Given the description of an element on the screen output the (x, y) to click on. 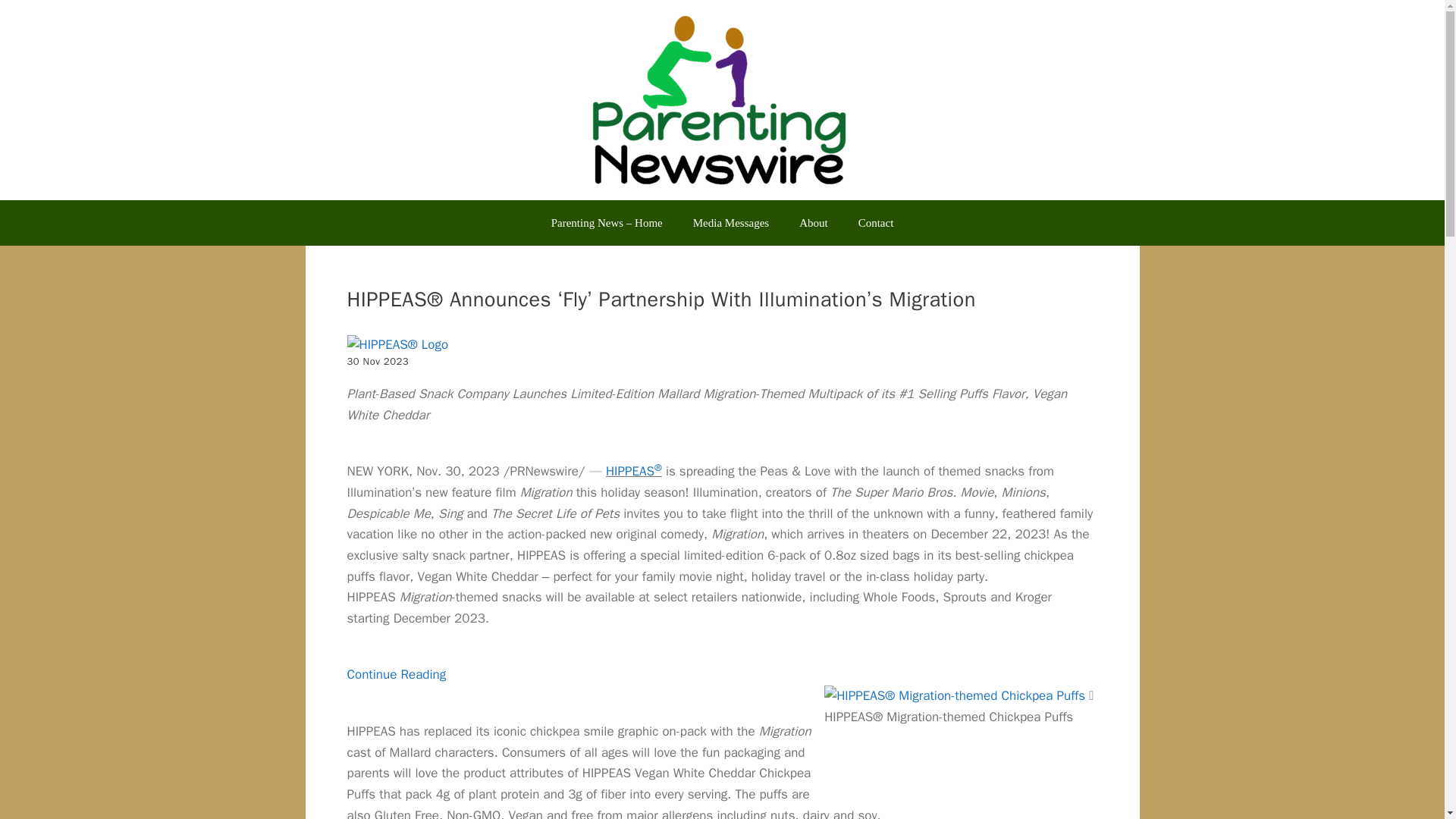
Media Messages (731, 222)
About (813, 222)
Continue Reading (396, 674)
Continue Reading (396, 674)
Contact (875, 222)
